Given the description of an element on the screen output the (x, y) to click on. 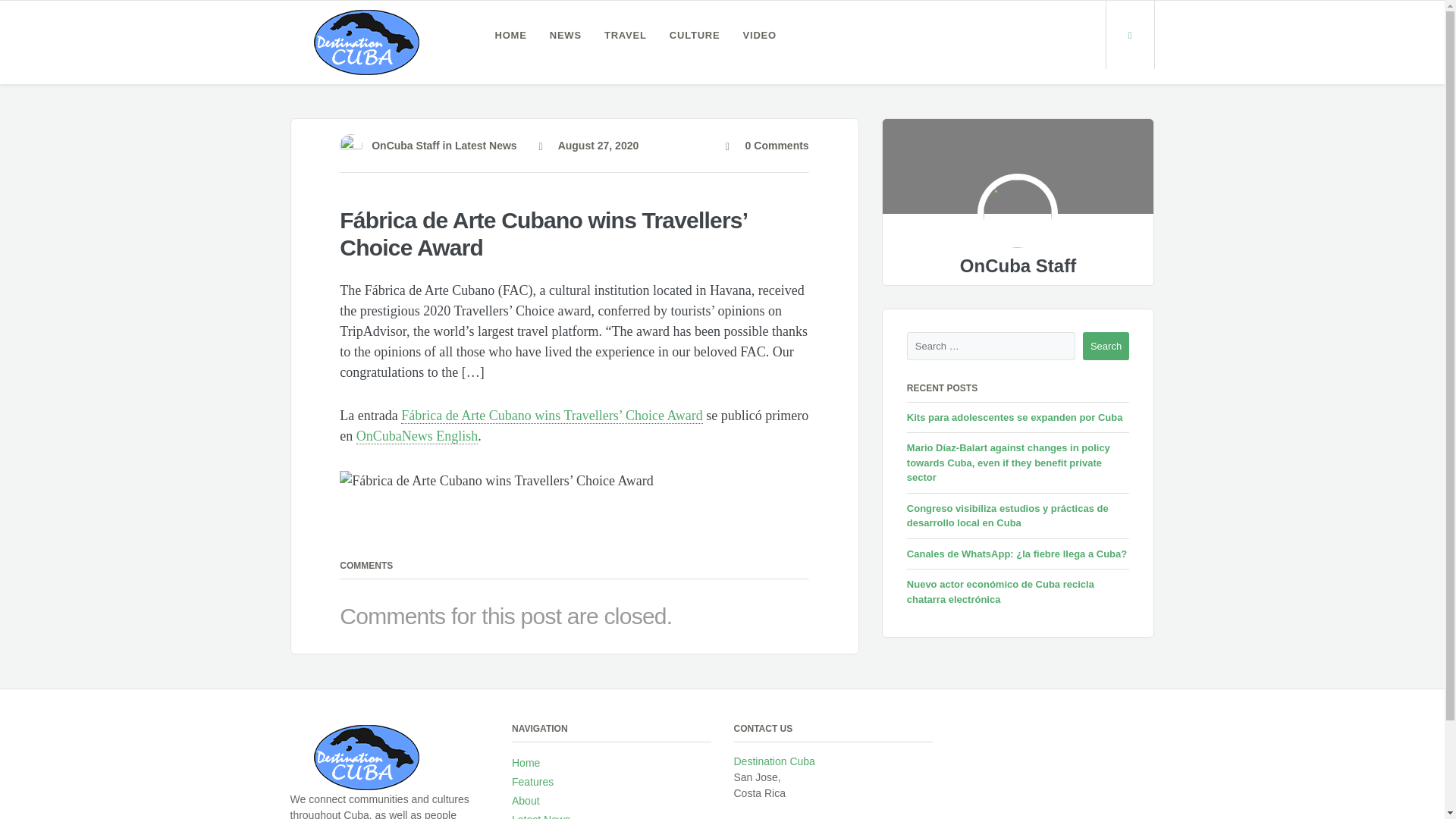
Search (1106, 346)
Search (1106, 346)
OnCuba Staff (405, 145)
OnCubaNews English (417, 436)
Search (1106, 346)
  August 27, 2020 (588, 145)
CULTURE (695, 34)
  0 Comments (767, 145)
Latest News (485, 145)
Latest News (541, 814)
